Given the description of an element on the screen output the (x, y) to click on. 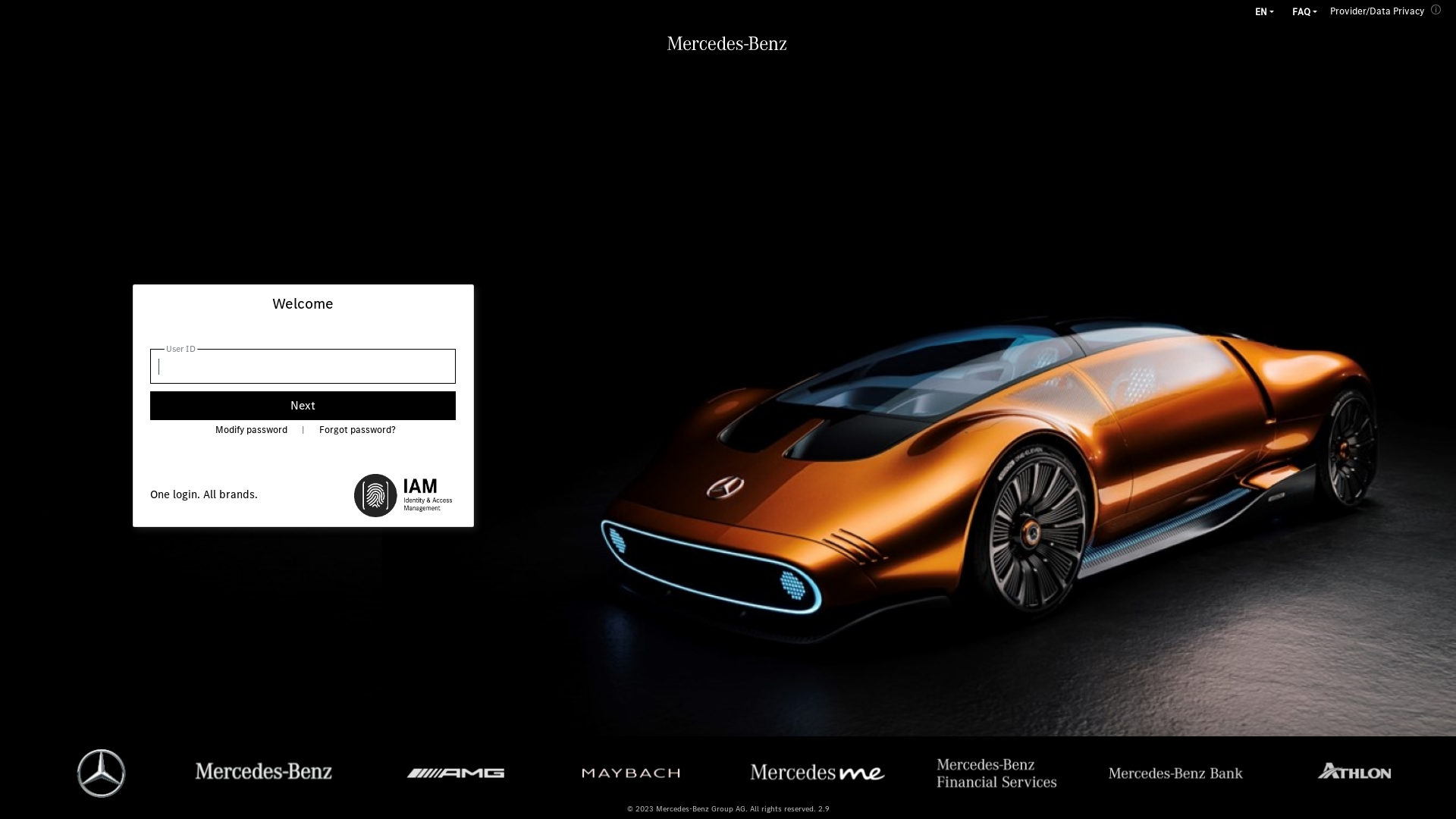
Forgot password? Element type: text (357, 429)
Provider/Data Privacy Element type: text (1386, 10)
Modify password Element type: text (251, 429)
EN Element type: text (1264, 12)
Next Element type: text (302, 405)
FAQ
Toggle Dropdown Element type: text (1304, 12)
